Given the description of an element on the screen output the (x, y) to click on. 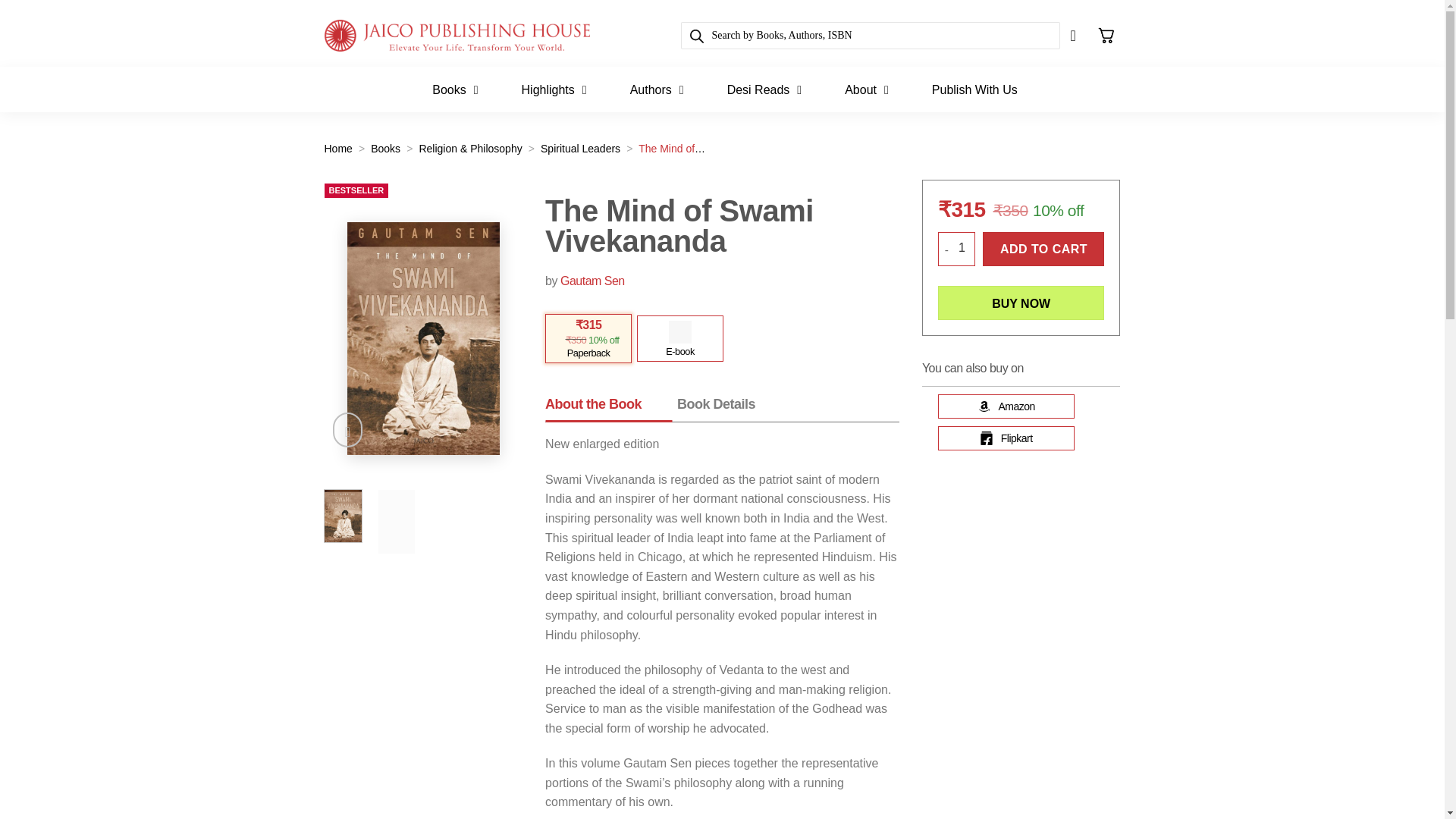
Books (454, 93)
Cart (1105, 34)
